Given the description of an element on the screen output the (x, y) to click on. 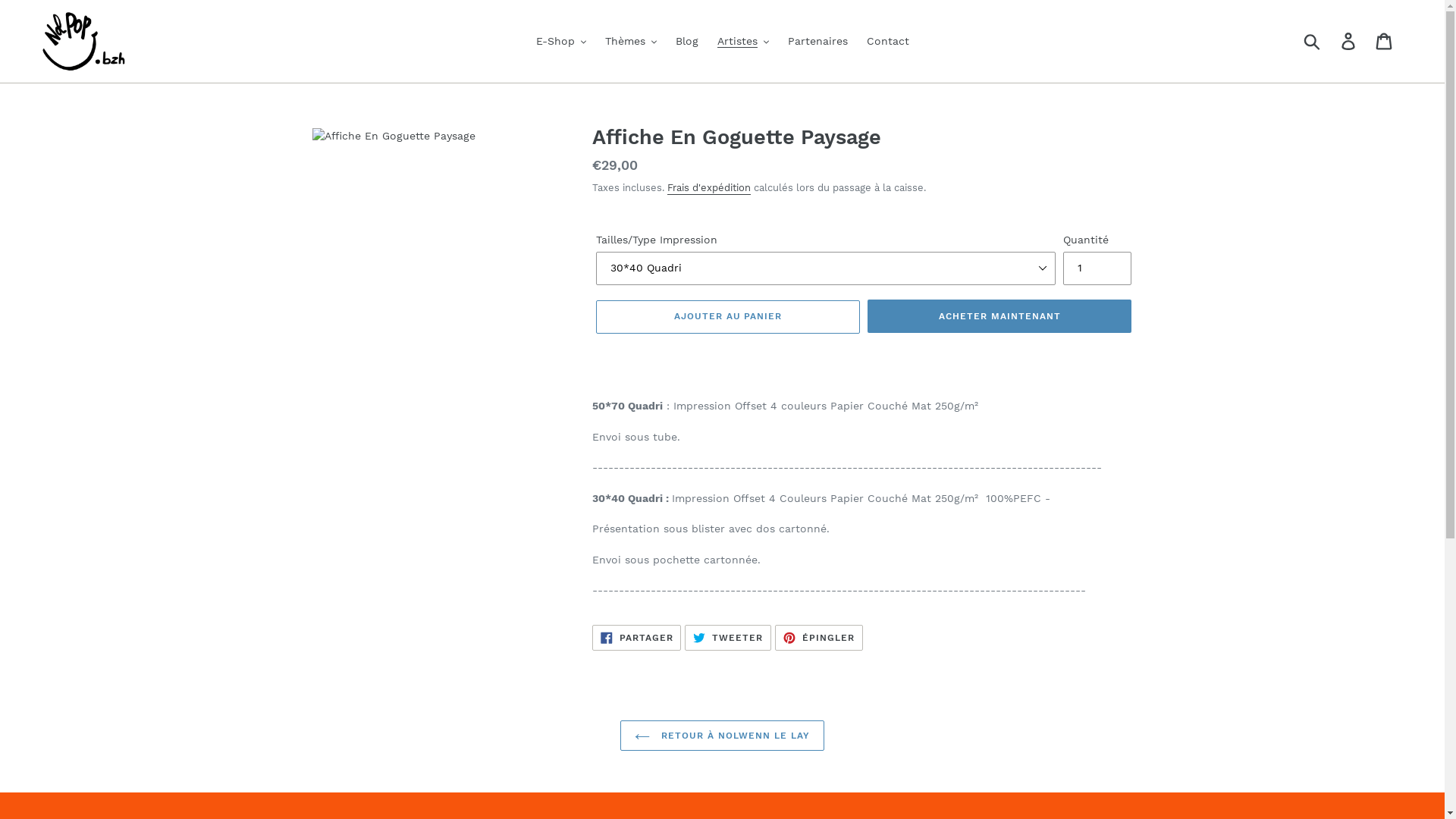
ACHETER MAINTENANT Element type: text (999, 315)
TWEETER
TWEETER SUR TWITTER Element type: text (727, 637)
Se connecter Element type: text (1349, 41)
Partenaires Element type: text (816, 41)
Soumettre Element type: text (1312, 40)
Panier Element type: text (1384, 41)
Blog Element type: text (686, 41)
PARTAGER
PARTAGER SUR FACEBOOK Element type: text (636, 637)
Contact Element type: text (887, 41)
AJOUTER AU PANIER Element type: text (727, 315)
